Given the description of an element on the screen output the (x, y) to click on. 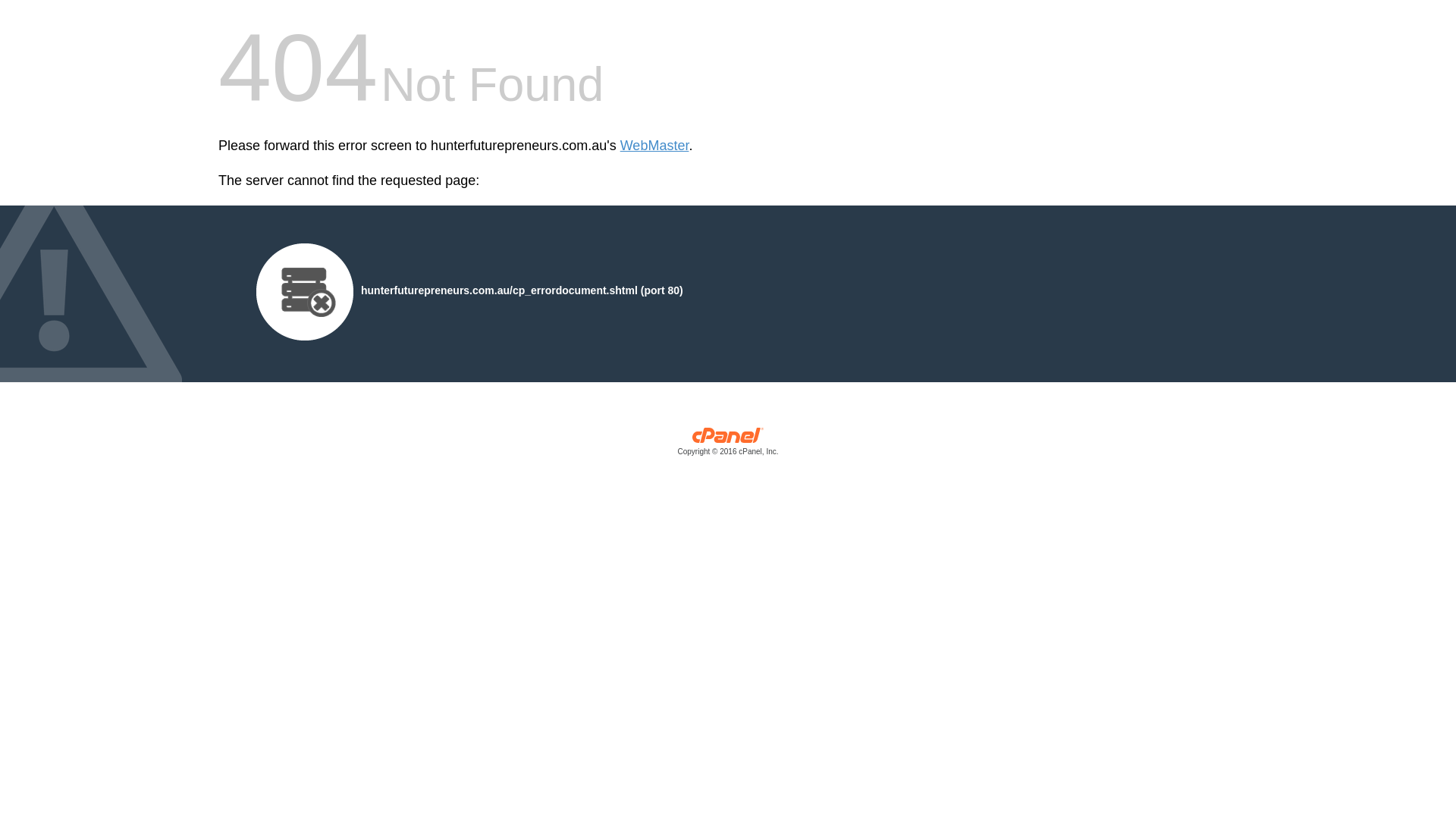
WebMaster Element type: text (654, 145)
